Given the description of an element on the screen output the (x, y) to click on. 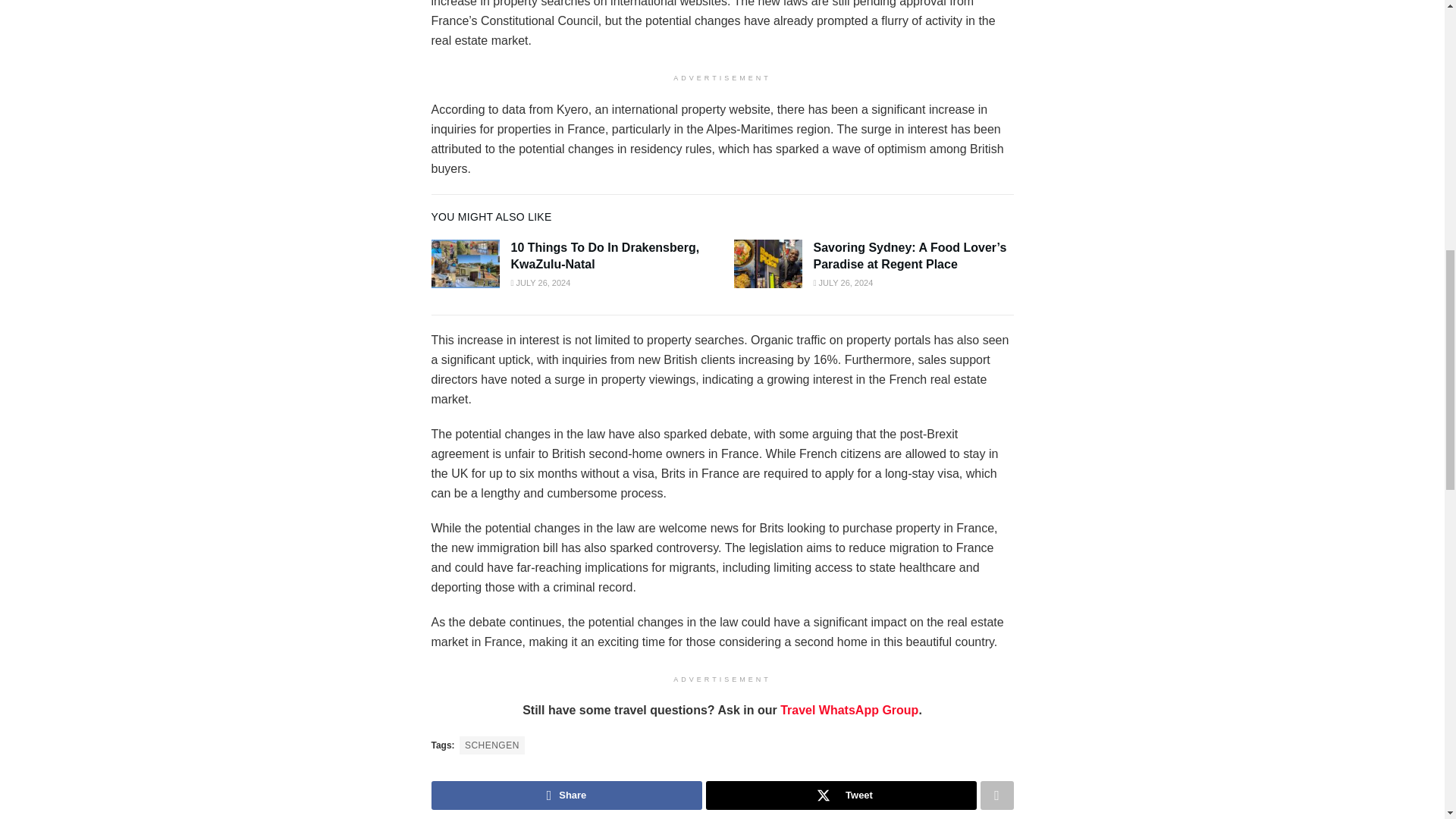
SCHENGEN (492, 745)
JULY 26, 2024 (540, 282)
Tweet (839, 795)
10 Things To Do In Drakensberg, KwaZulu-Natal (605, 255)
Share (565, 795)
Travel WhatsApp Group (849, 709)
JULY 26, 2024 (842, 282)
